Given the description of an element on the screen output the (x, y) to click on. 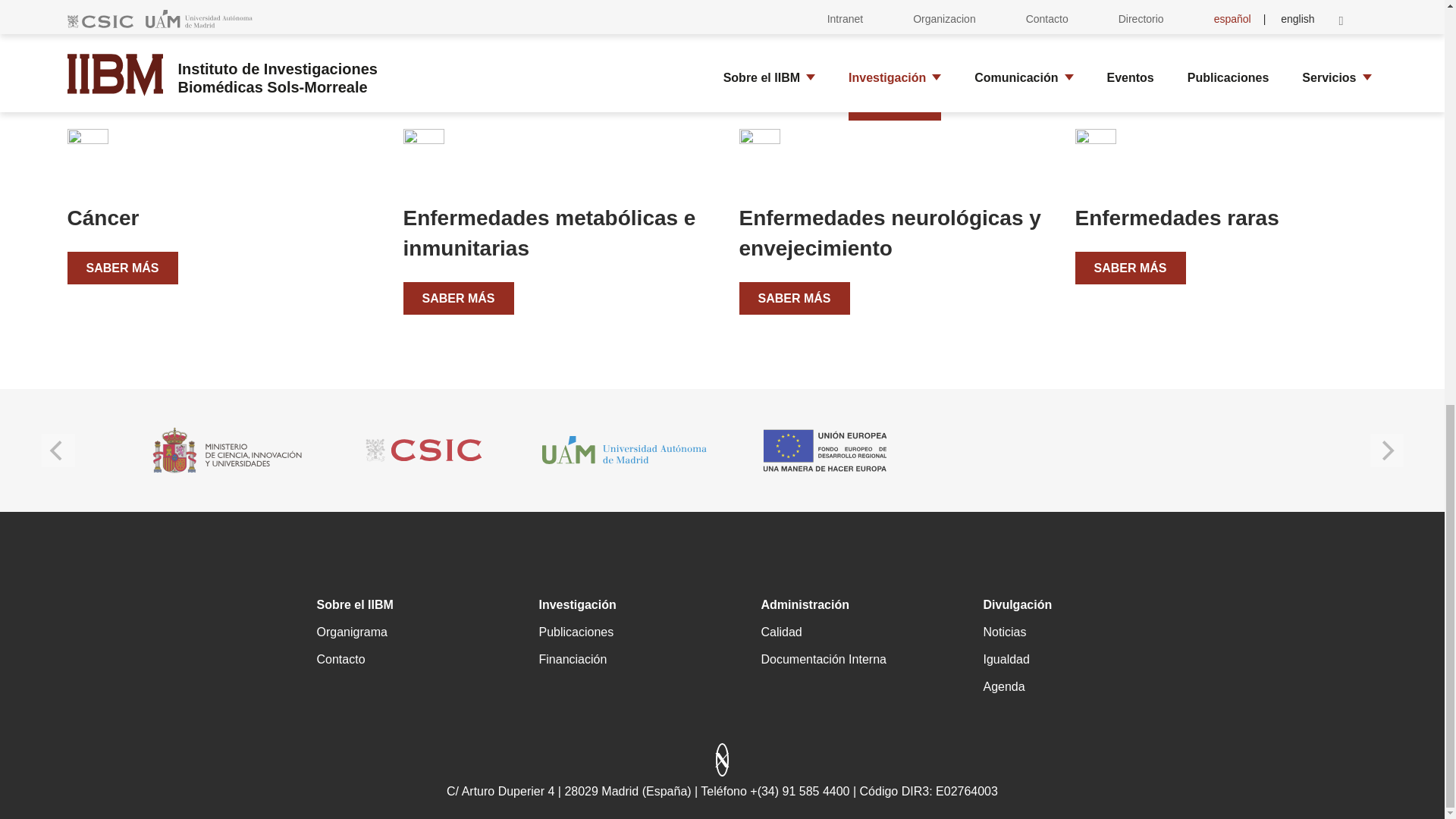
FEDER (824, 450)
